Given the description of an element on the screen output the (x, y) to click on. 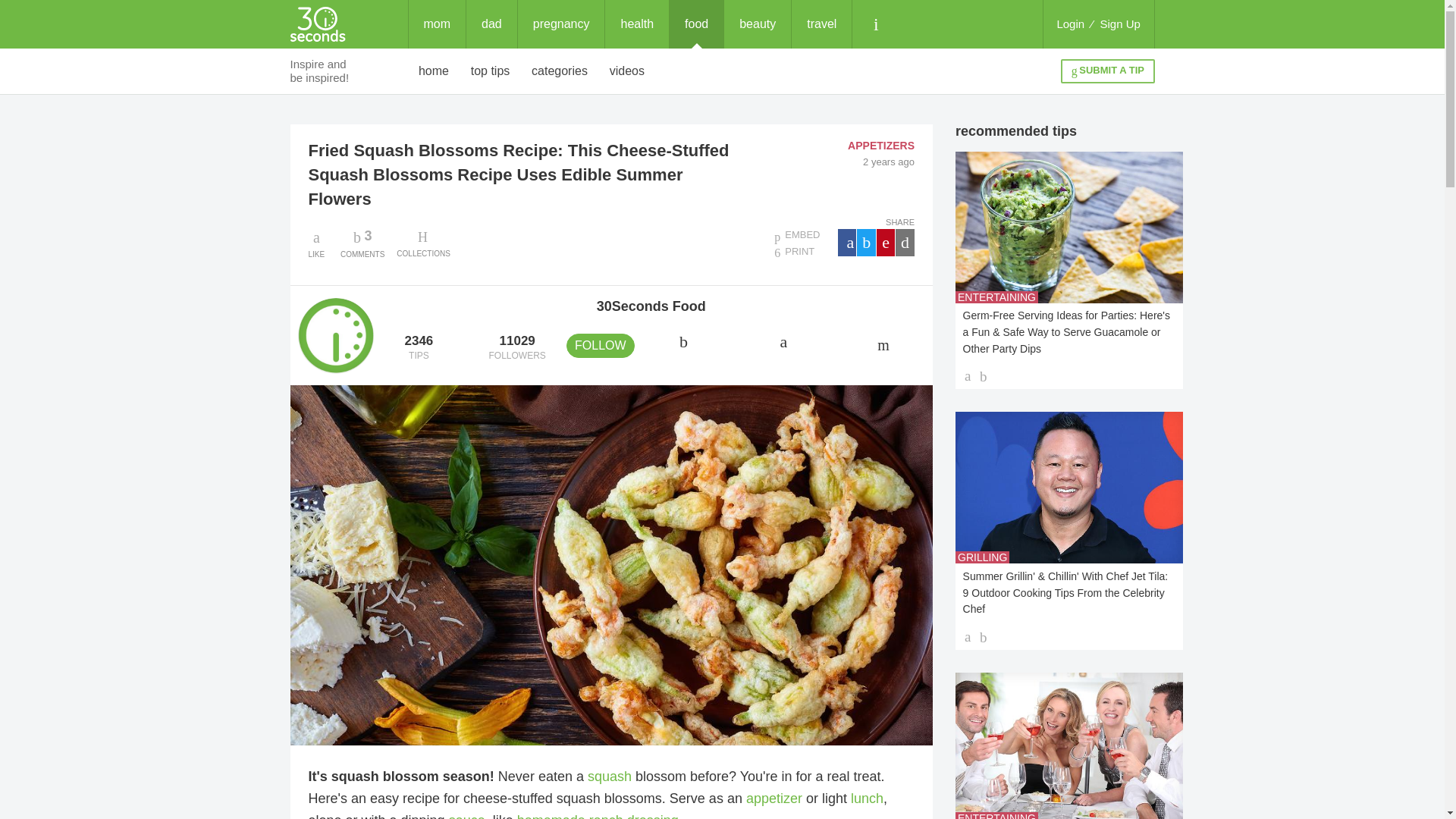
beauty (756, 24)
dad (490, 24)
mom (436, 24)
Login (1069, 23)
home (433, 71)
travel (821, 24)
categories (559, 71)
Sign Up (1120, 23)
pregnancy (561, 24)
health (636, 24)
food (362, 243)
top tips (696, 24)
